Given the description of an element on the screen output the (x, y) to click on. 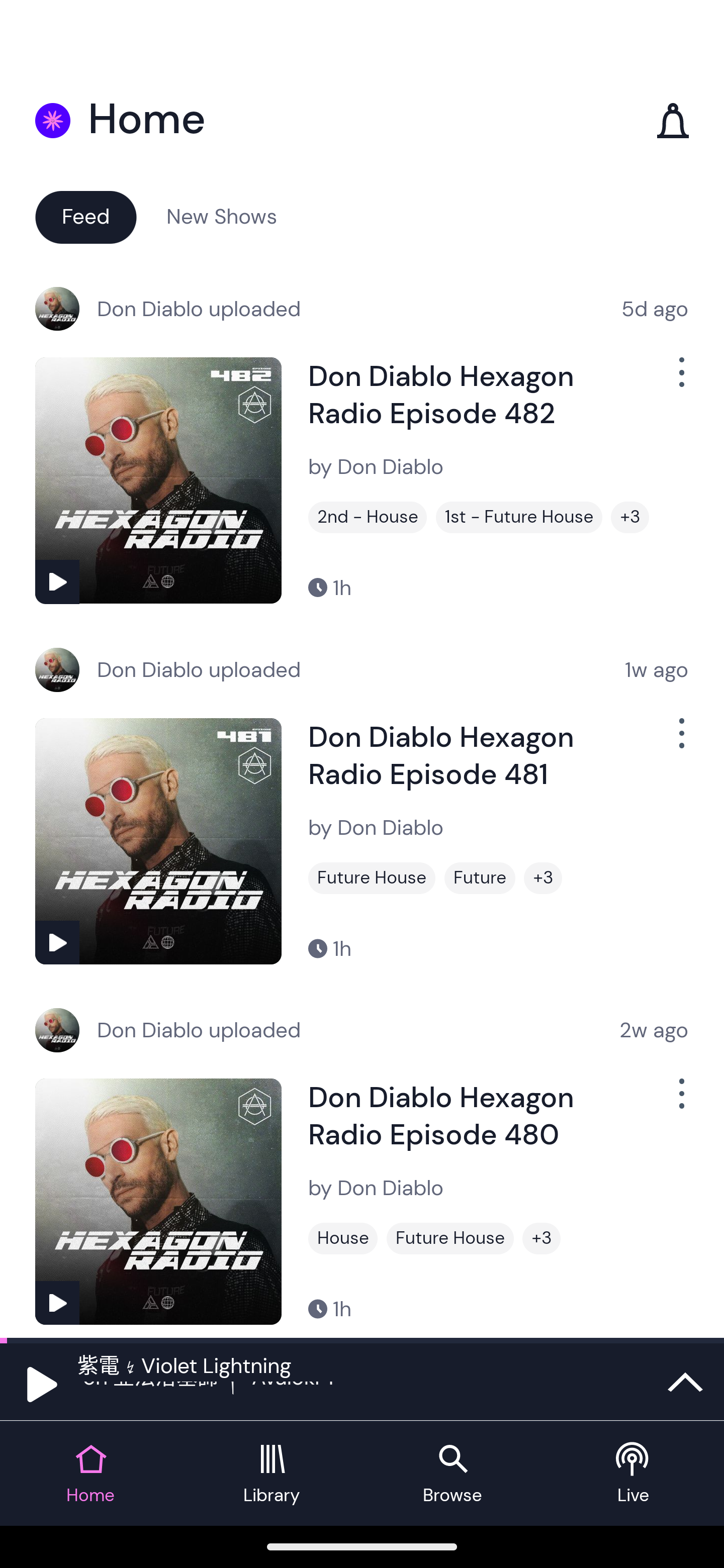
Feed (85, 216)
New Shows (221, 216)
Show Options Menu Button (679, 379)
2nd - House (367, 517)
1st - Future House (518, 517)
Show Options Menu Button (679, 740)
Future House (371, 877)
Future (479, 877)
Show Options Menu Button (679, 1101)
House (342, 1238)
Future House (450, 1238)
Home tab Home (90, 1473)
Library tab Library (271, 1473)
Browse tab Browse (452, 1473)
Live tab Live (633, 1473)
